Given the description of an element on the screen output the (x, y) to click on. 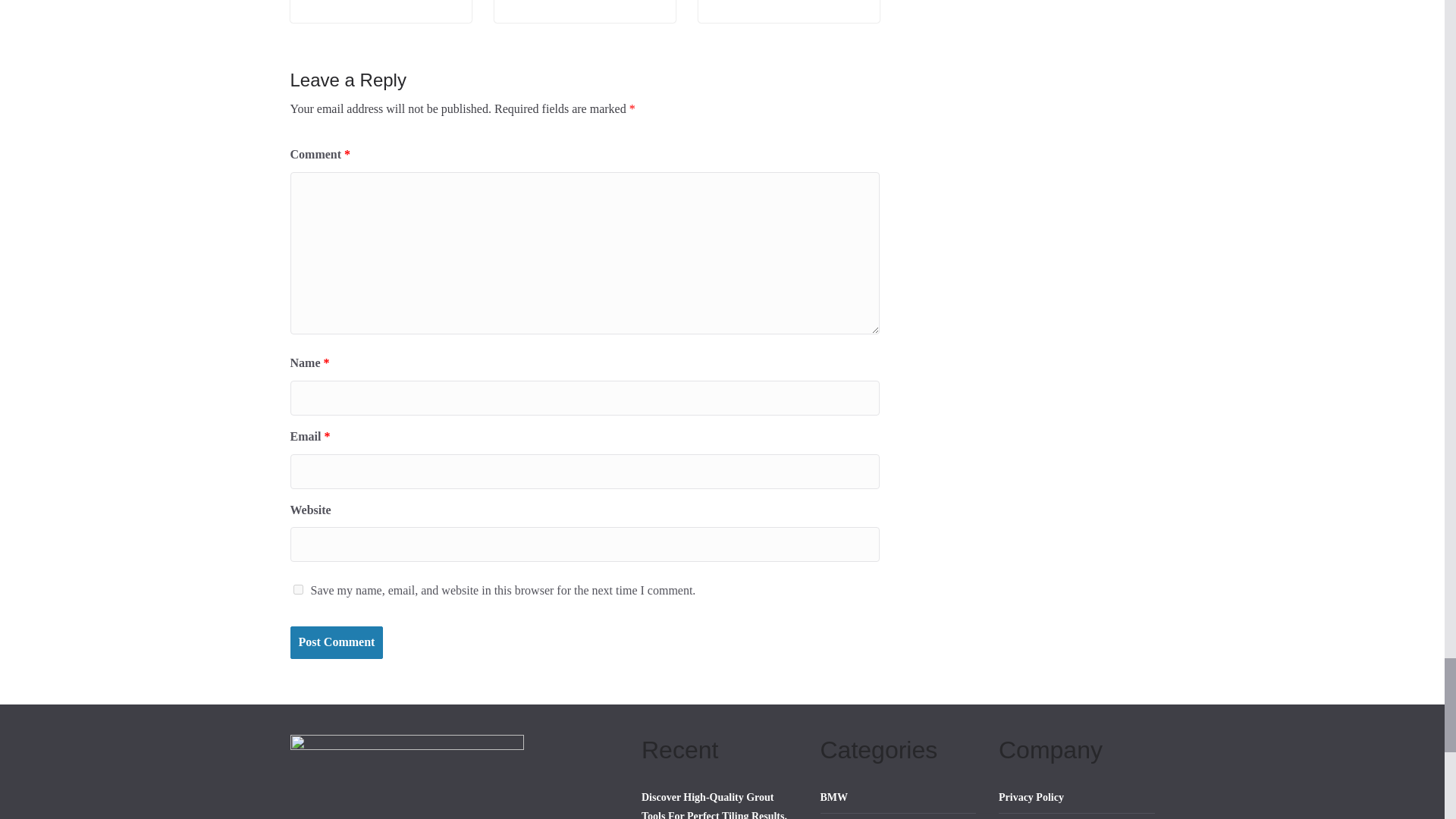
yes (297, 589)
Post Comment (335, 642)
